Given the description of an element on the screen output the (x, y) to click on. 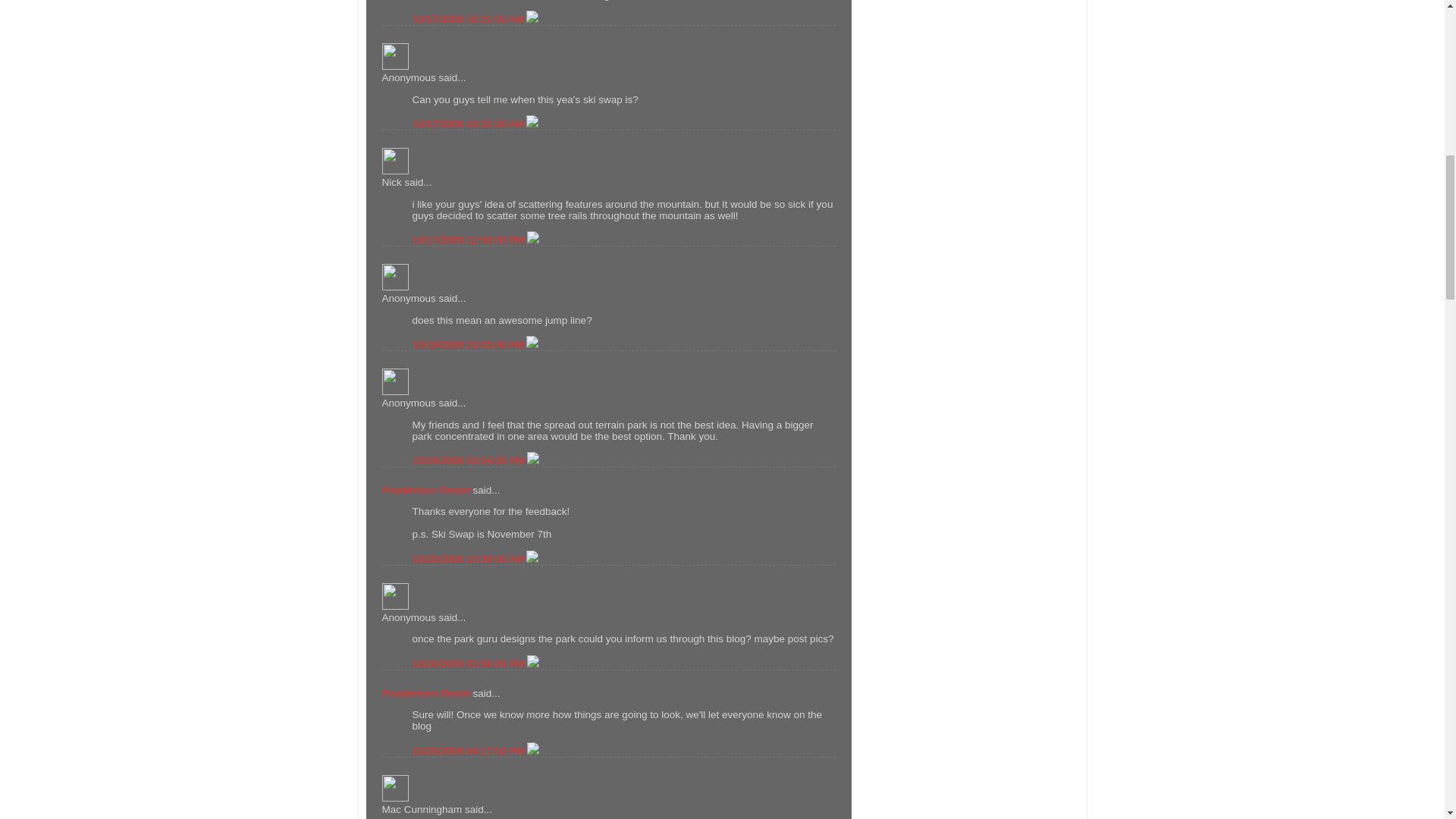
Powderhorn Resort (425, 490)
